Given the description of an element on the screen output the (x, y) to click on. 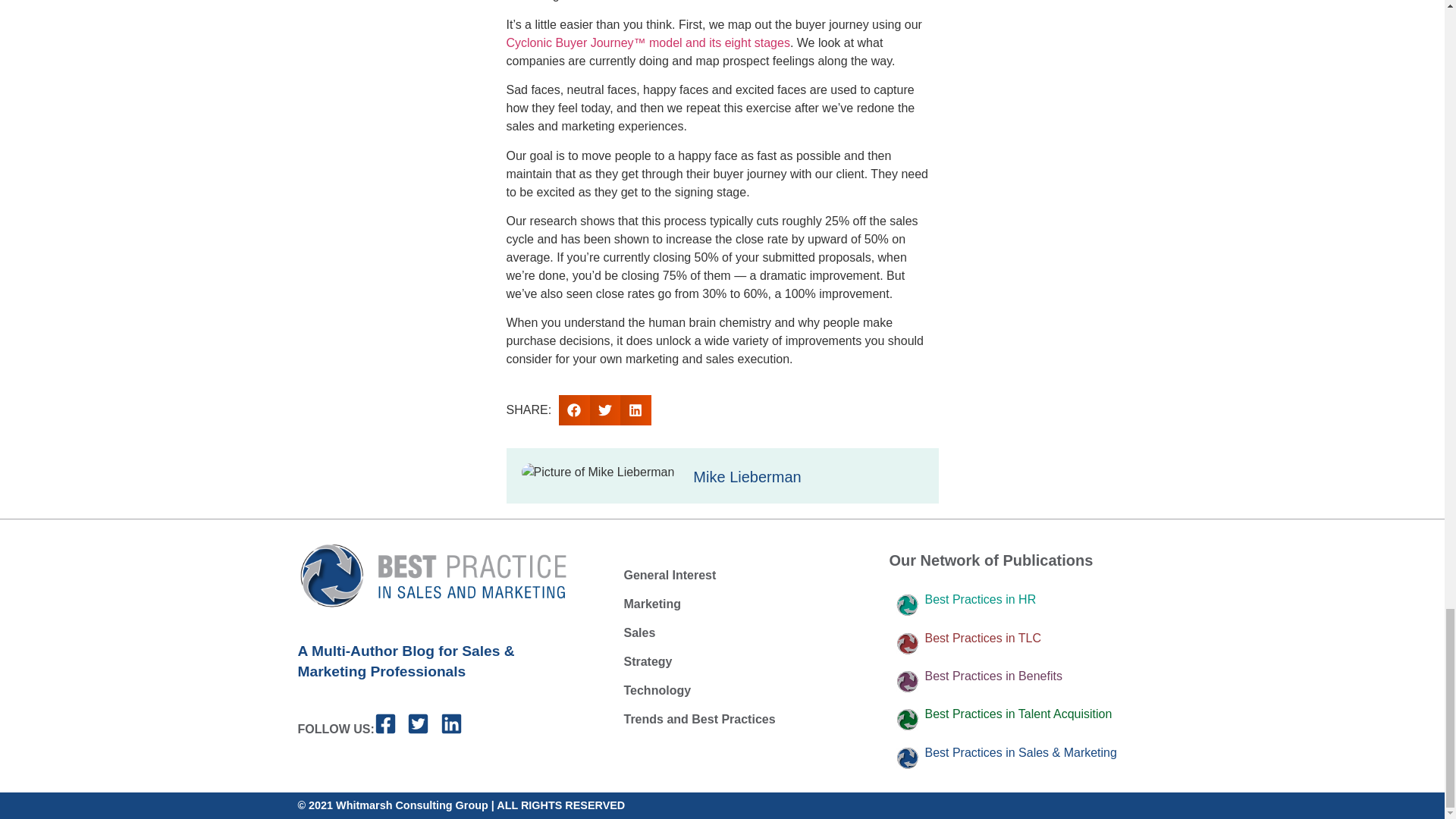
bp-circle-training.png (907, 643)
bp-circle-hr.png (907, 604)
General Interest (733, 575)
bp-circle-talent.png (907, 719)
bp-circle-benefits.png (907, 681)
bp-circle-salesandmarketing.png (907, 757)
